Given the description of an element on the screen output the (x, y) to click on. 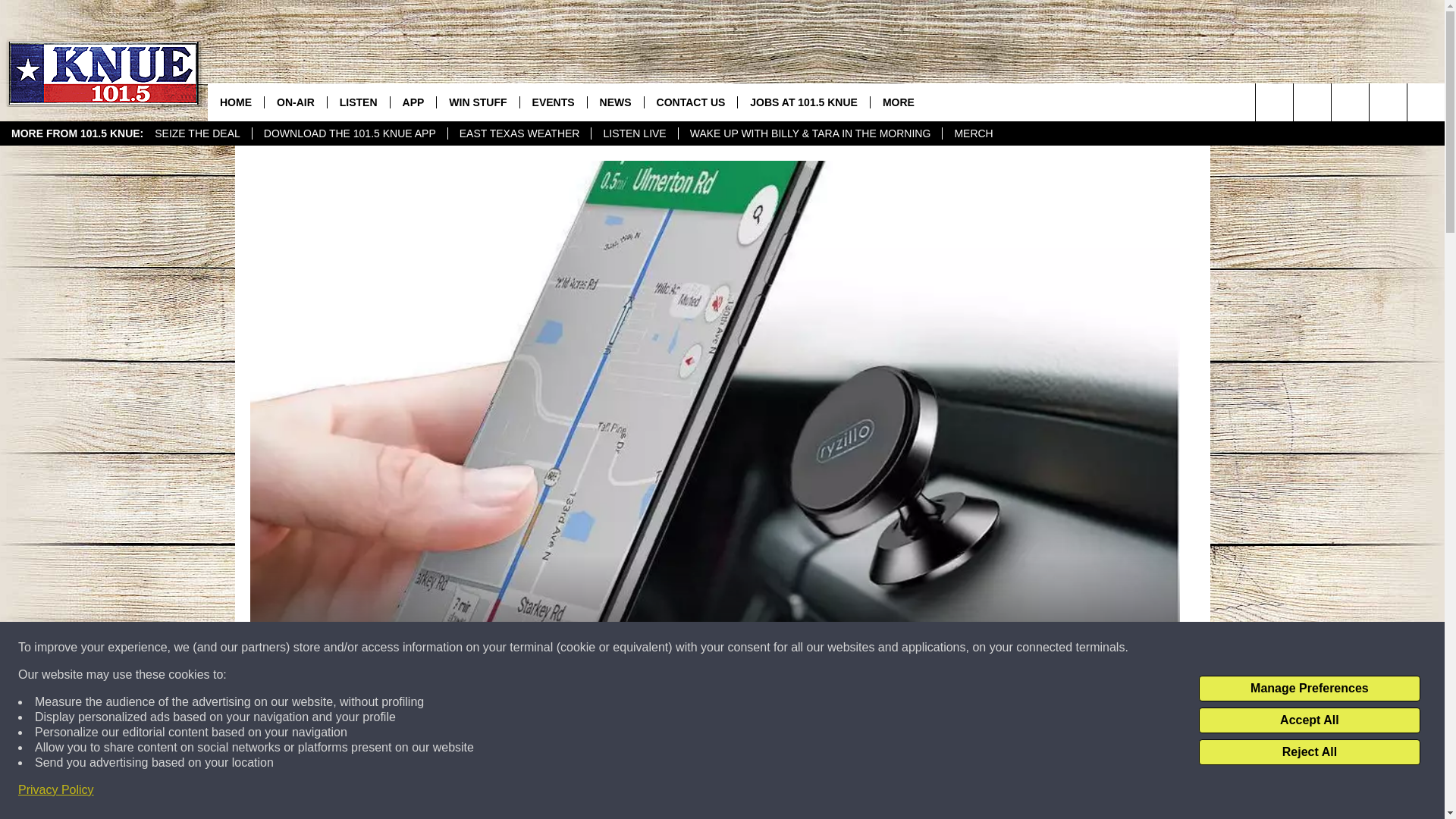
Privacy Policy (55, 789)
APP (413, 102)
ON-AIR (294, 102)
Share on Twitter (912, 791)
LISTEN (358, 102)
Share on Facebook (517, 791)
Reject All (1309, 751)
HOME (235, 102)
SEIZE THE DEAL (196, 133)
LISTEN LIVE (634, 133)
Accept All (1309, 720)
EAST TEXAS WEATHER (518, 133)
DOWNLOAD THE 101.5 KNUE APP (348, 133)
MERCH (973, 133)
Manage Preferences (1309, 688)
